Given the description of an element on the screen output the (x, y) to click on. 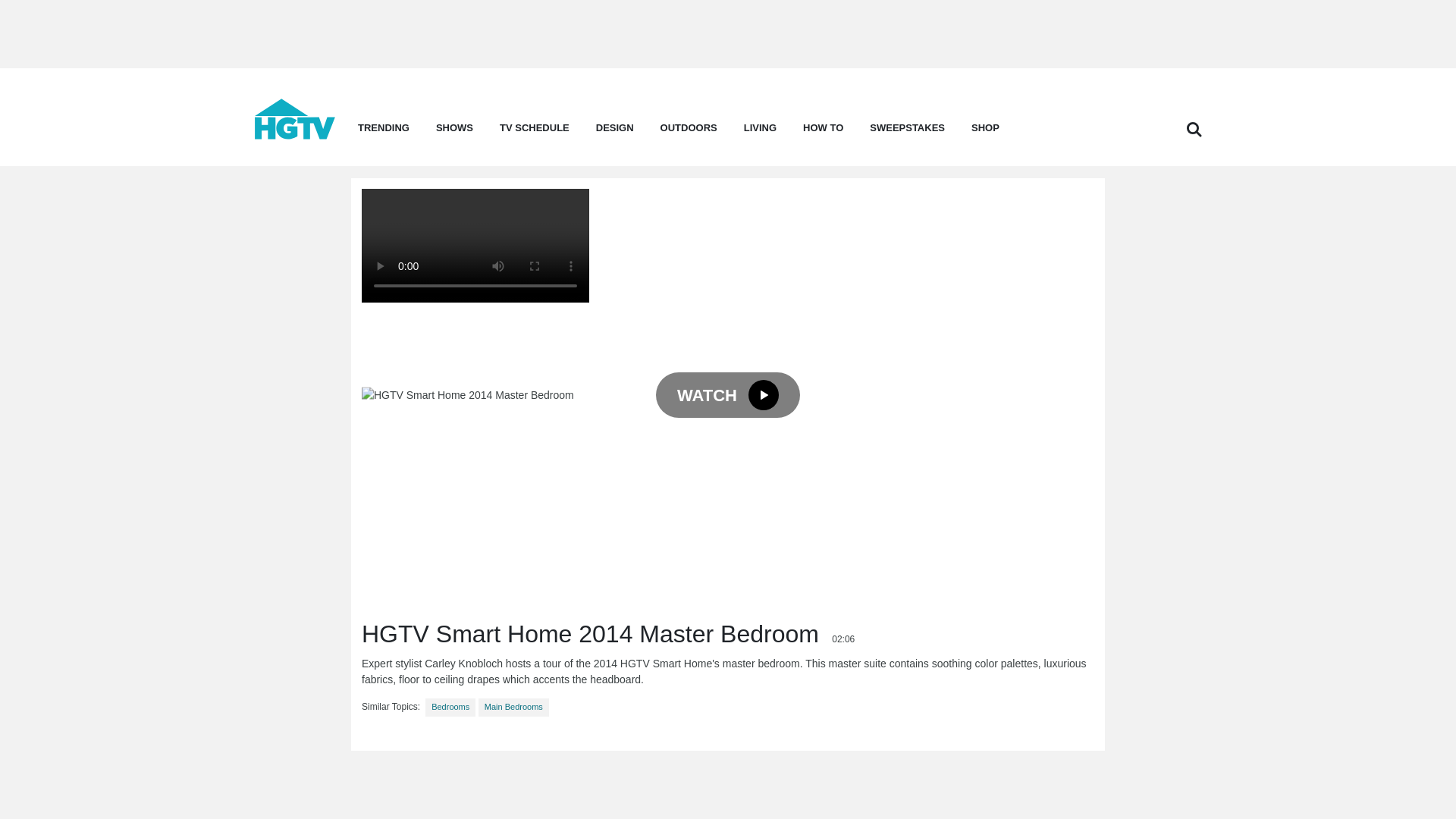
home (294, 135)
